Given the description of an element on the screen output the (x, y) to click on. 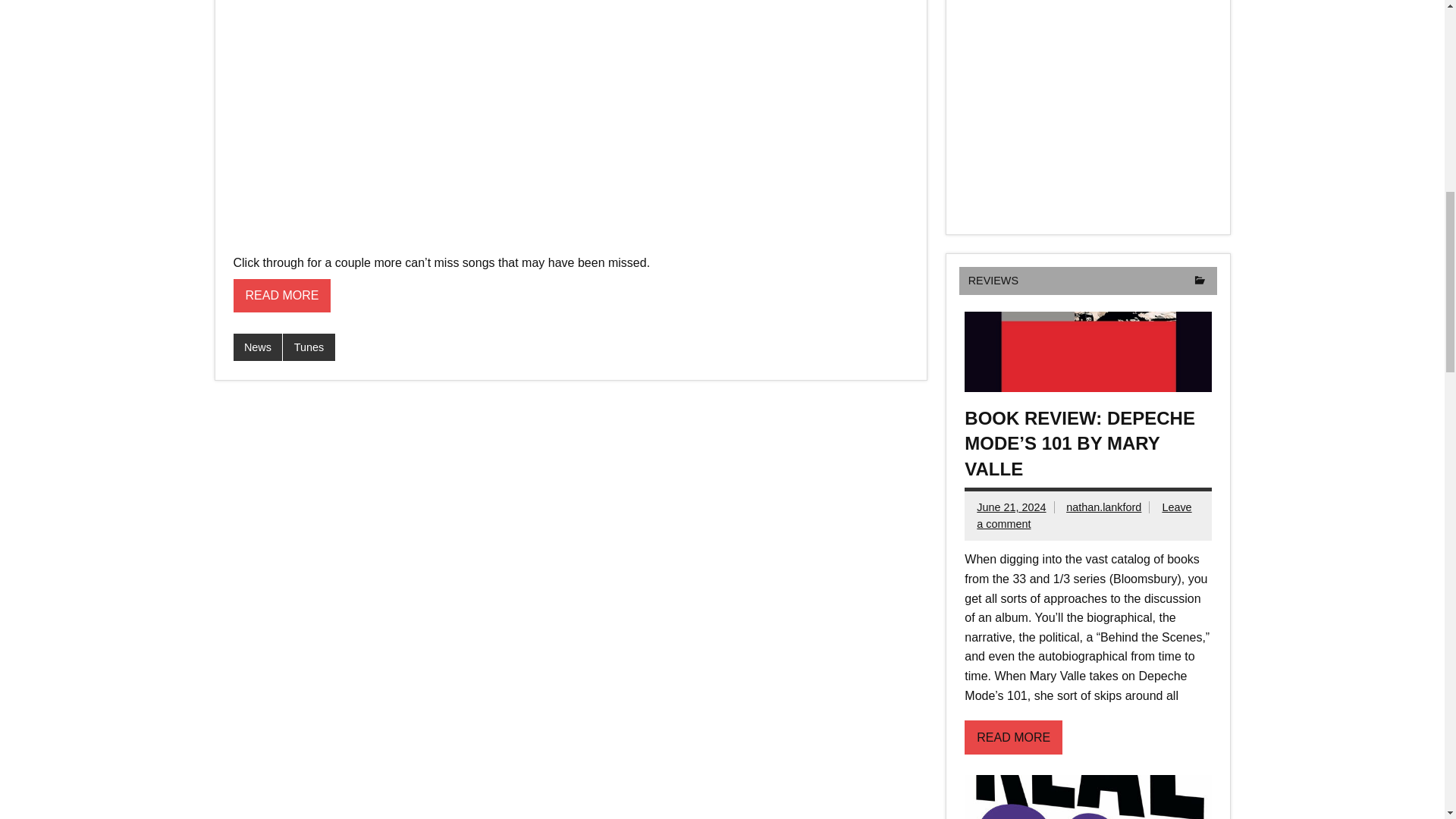
View all posts from category Reviews (992, 280)
11:06 am (1010, 507)
June 21, 2024 (1010, 507)
Spotify Embed: ATH DJ - Oddwood Emo 5.30.24 (1087, 106)
nathan.lankford (1103, 507)
READ MORE (1012, 737)
Tunes (308, 347)
View all posts from category Reviews (1200, 281)
READ MORE (281, 295)
REVIEWS (992, 280)
View all posts by nathan.lankford (1103, 507)
News (257, 347)
Leave a comment (1083, 515)
